Given the description of an element on the screen output the (x, y) to click on. 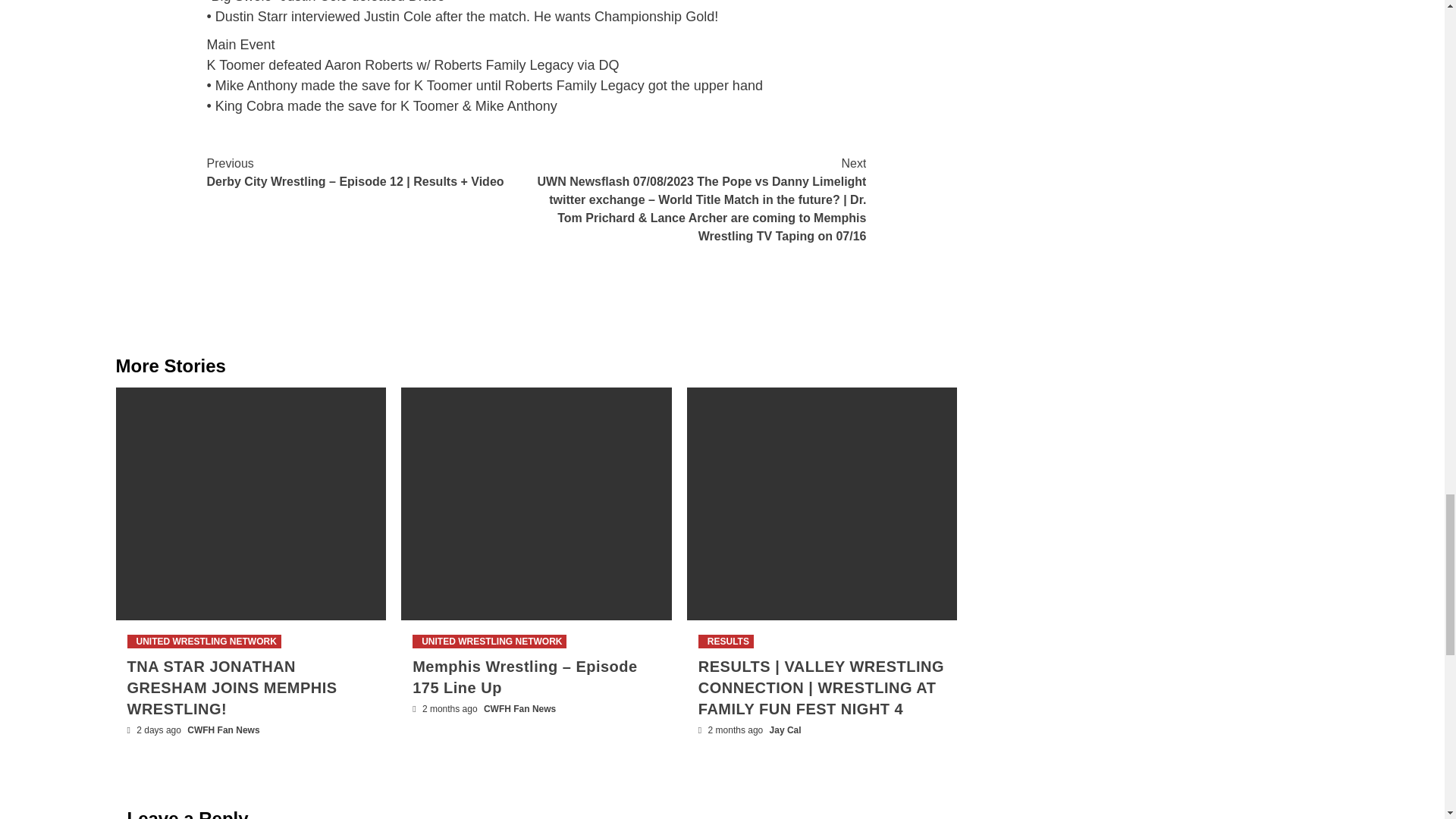
UNITED WRESTLING NETWORK (204, 641)
CWFH Fan News (223, 729)
RESULTS (726, 641)
Jay Cal (786, 729)
CWFH Fan News (519, 708)
UNITED WRESTLING NETWORK (489, 641)
TNA STAR JONATHAN GRESHAM JOINS MEMPHIS WRESTLING! (232, 687)
